Given the description of an element on the screen output the (x, y) to click on. 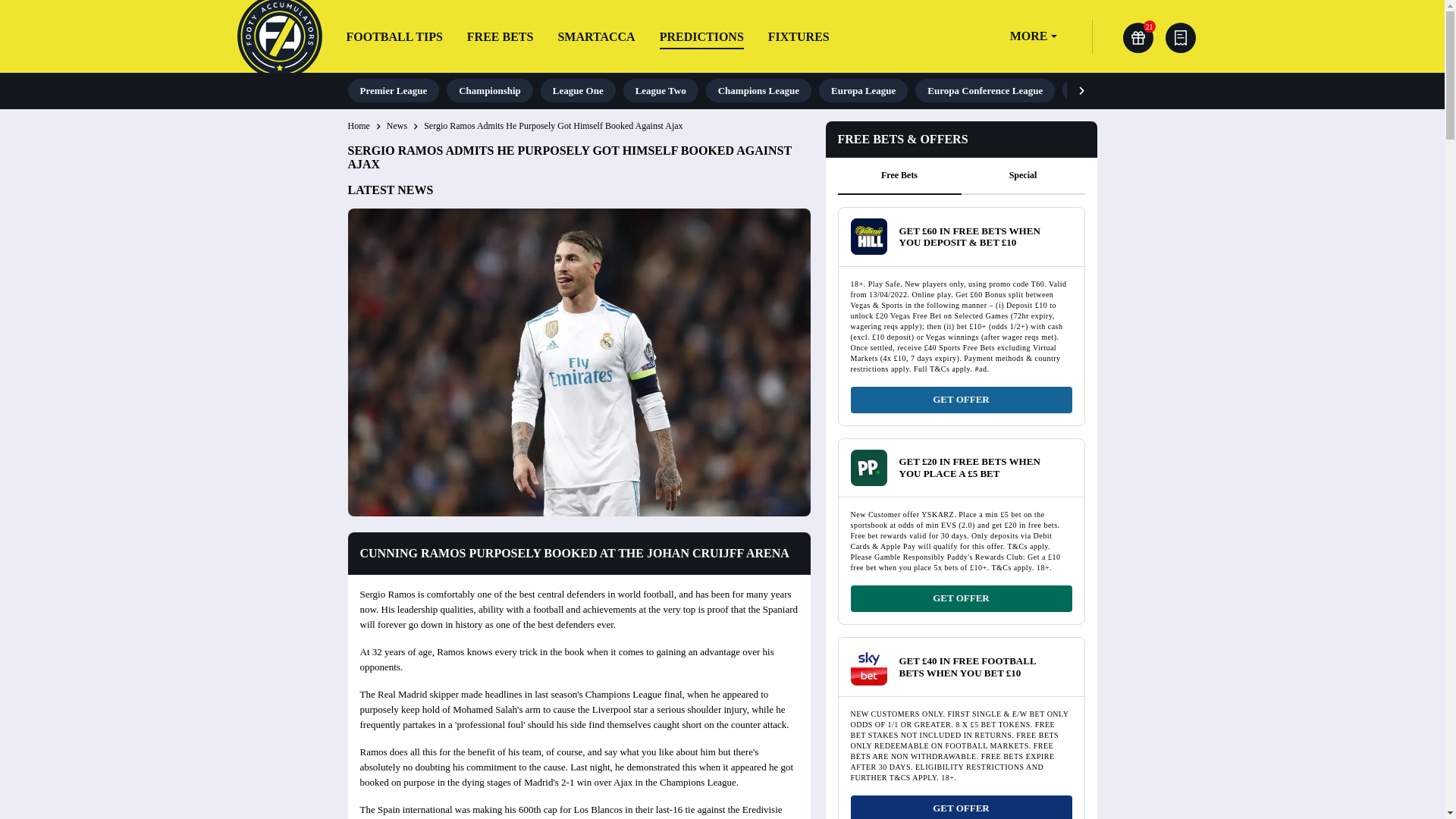
Europa Conference League (984, 90)
FA Cup (1090, 90)
21 (1137, 37)
Home (358, 126)
Champions League (758, 90)
FREE BETS (500, 36)
Europa League (862, 90)
Championship (489, 90)
Premier League (393, 90)
UK Football (1326, 90)
League Two (660, 90)
League One (577, 90)
Open bet slip (1179, 37)
SMARTACCA (595, 36)
FOOTBALL TIPS (394, 36)
